Given the description of an element on the screen output the (x, y) to click on. 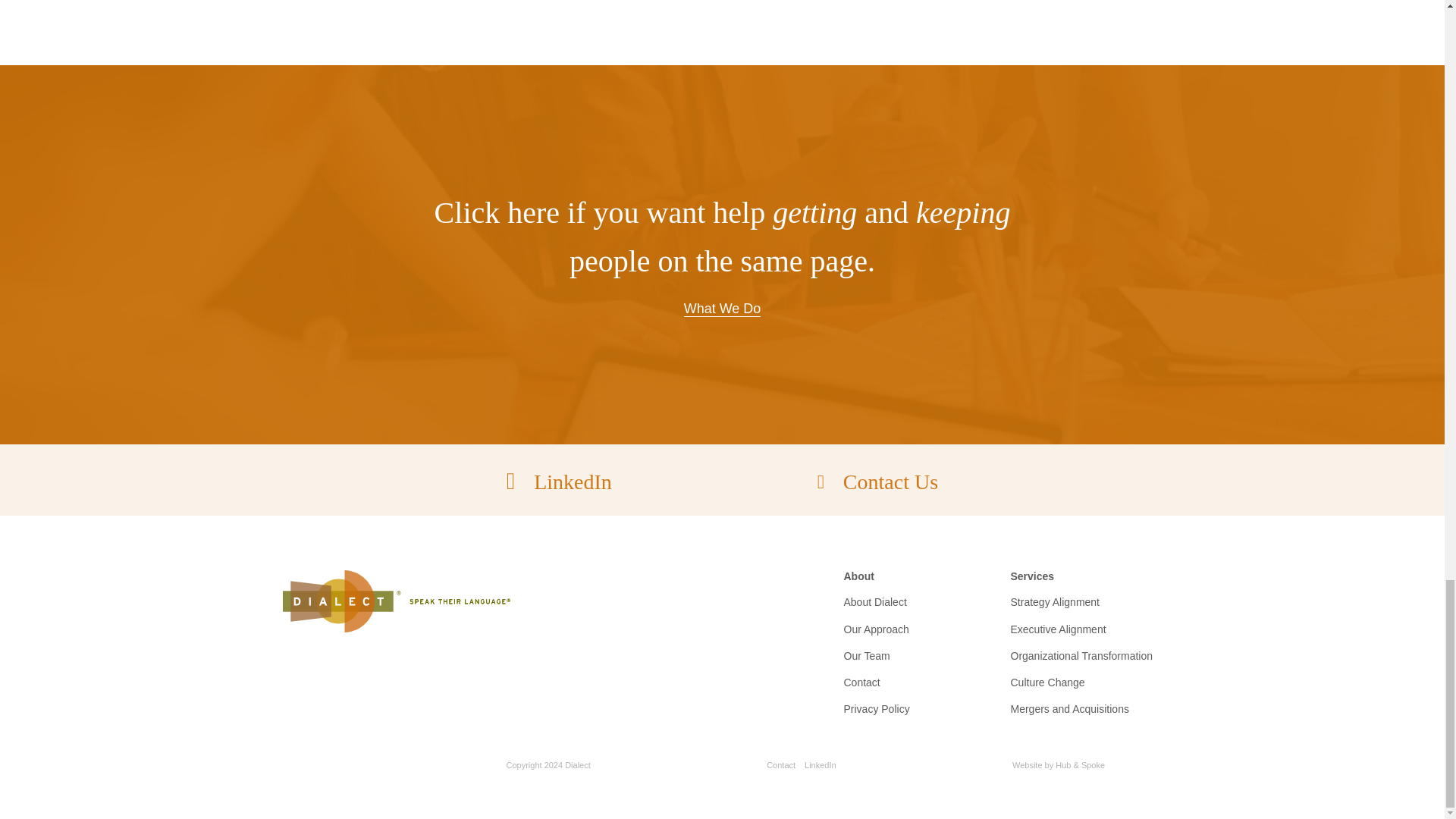
Culture Change (1047, 682)
Strategy Alignment (1054, 602)
Contact (861, 682)
Contact (780, 764)
Our Approach (875, 628)
Privacy Policy (875, 708)
Contact Us (876, 482)
LinkedIn (820, 764)
Executive Alignment (1057, 628)
About Dialect (874, 602)
Mergers and Acquisitions (1069, 708)
LinkedIn (558, 482)
Organizational Transformation (1081, 655)
Our Team (866, 655)
